Given the description of an element on the screen output the (x, y) to click on. 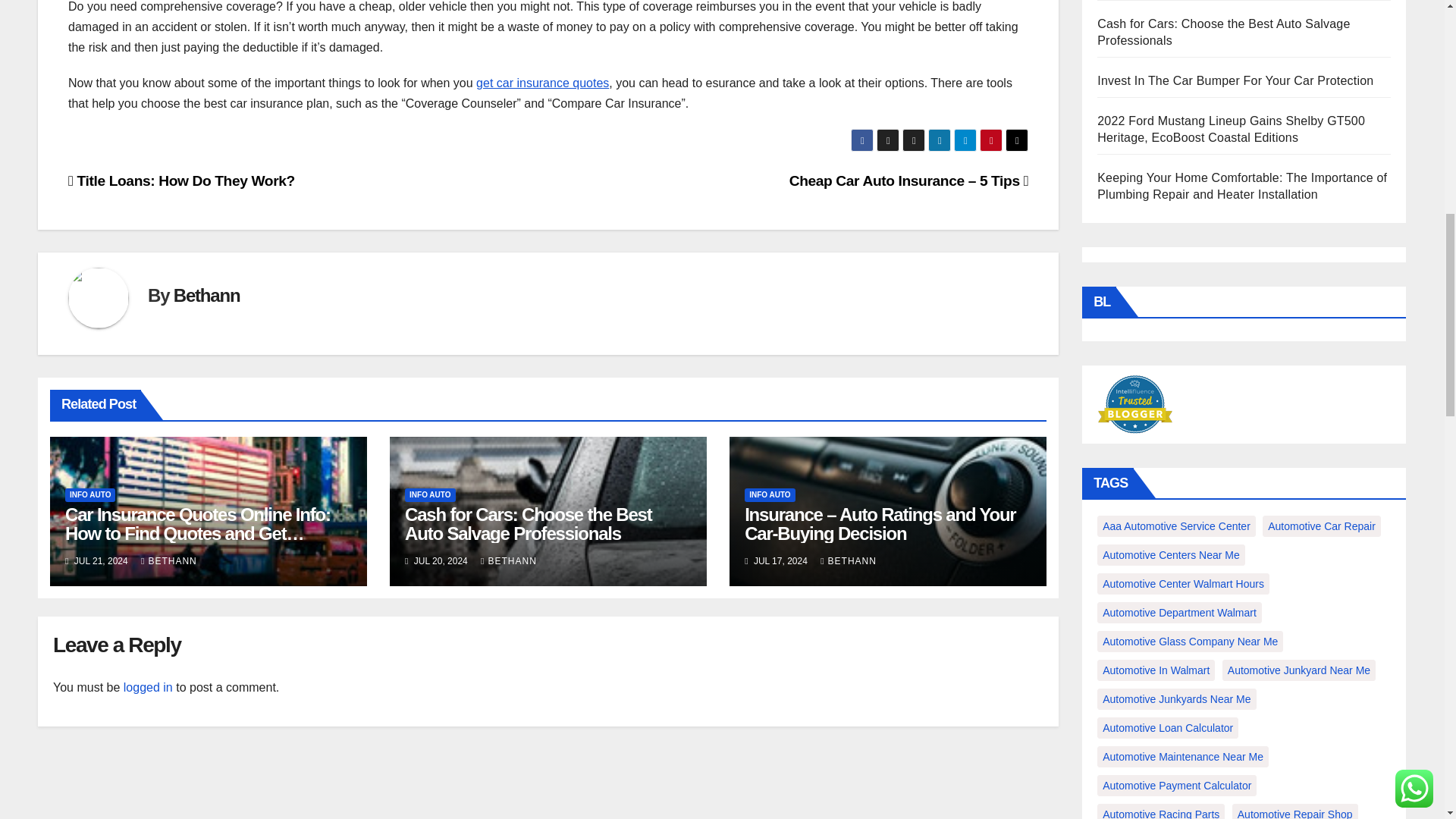
Bethann (206, 295)
Title Loans: How Do They Work? (181, 180)
get car insurance quotes (542, 82)
INFO AUTO (90, 495)
